Given the description of an element on the screen output the (x, y) to click on. 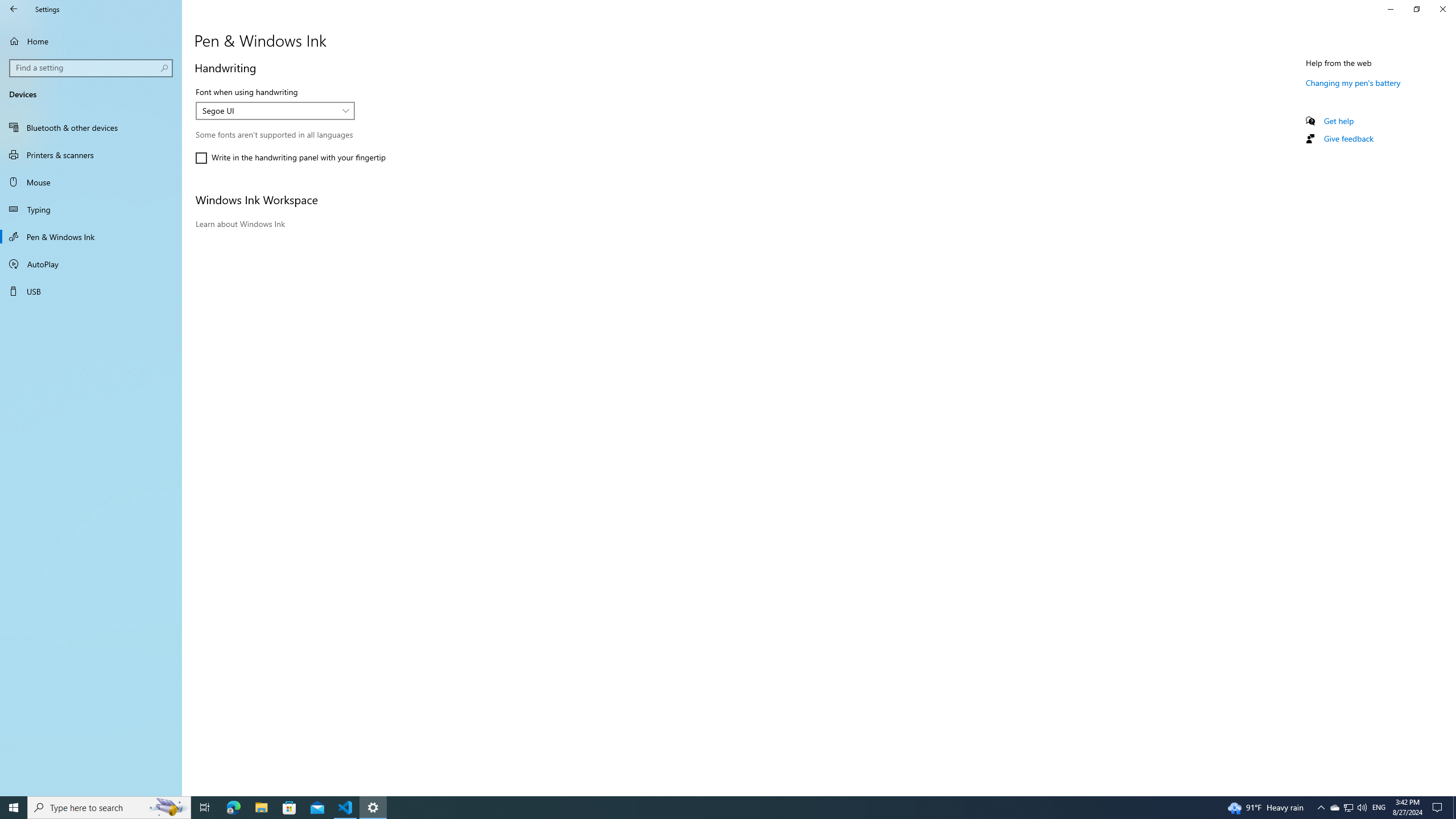
Printers & scanners (91, 154)
Changing my pen's battery (1353, 82)
Pen & Windows Ink (91, 236)
Segoe UI (269, 110)
USB (91, 290)
Learn about Windows Ink (240, 223)
